Given the description of an element on the screen output the (x, y) to click on. 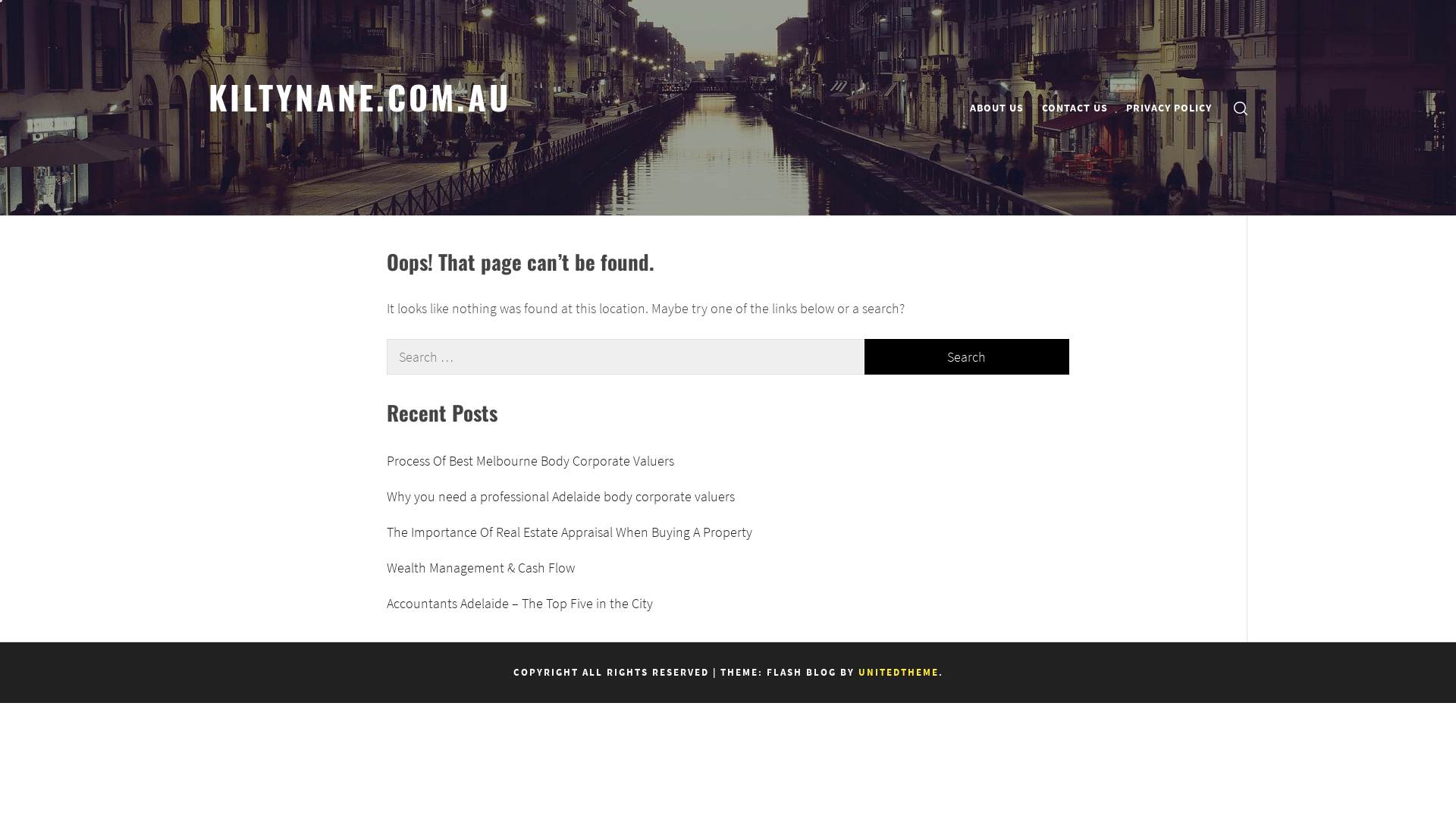
UNITEDTHEME Element type: text (898, 671)
Search Element type: text (966, 355)
Wealth Management & Cash Flow Element type: text (727, 567)
PRIVACY POLICY Element type: text (1168, 107)
KILTYNANE.COM.AU Element type: text (359, 96)
Why you need a professional Adelaide body corporate valuers Element type: text (727, 496)
Search Element type: text (803, 409)
CONTACT US Element type: text (1074, 107)
ABOUT US Element type: text (996, 107)
Process Of Best Melbourne Body Corporate Valuers Element type: text (727, 460)
